Given the description of an element on the screen output the (x, y) to click on. 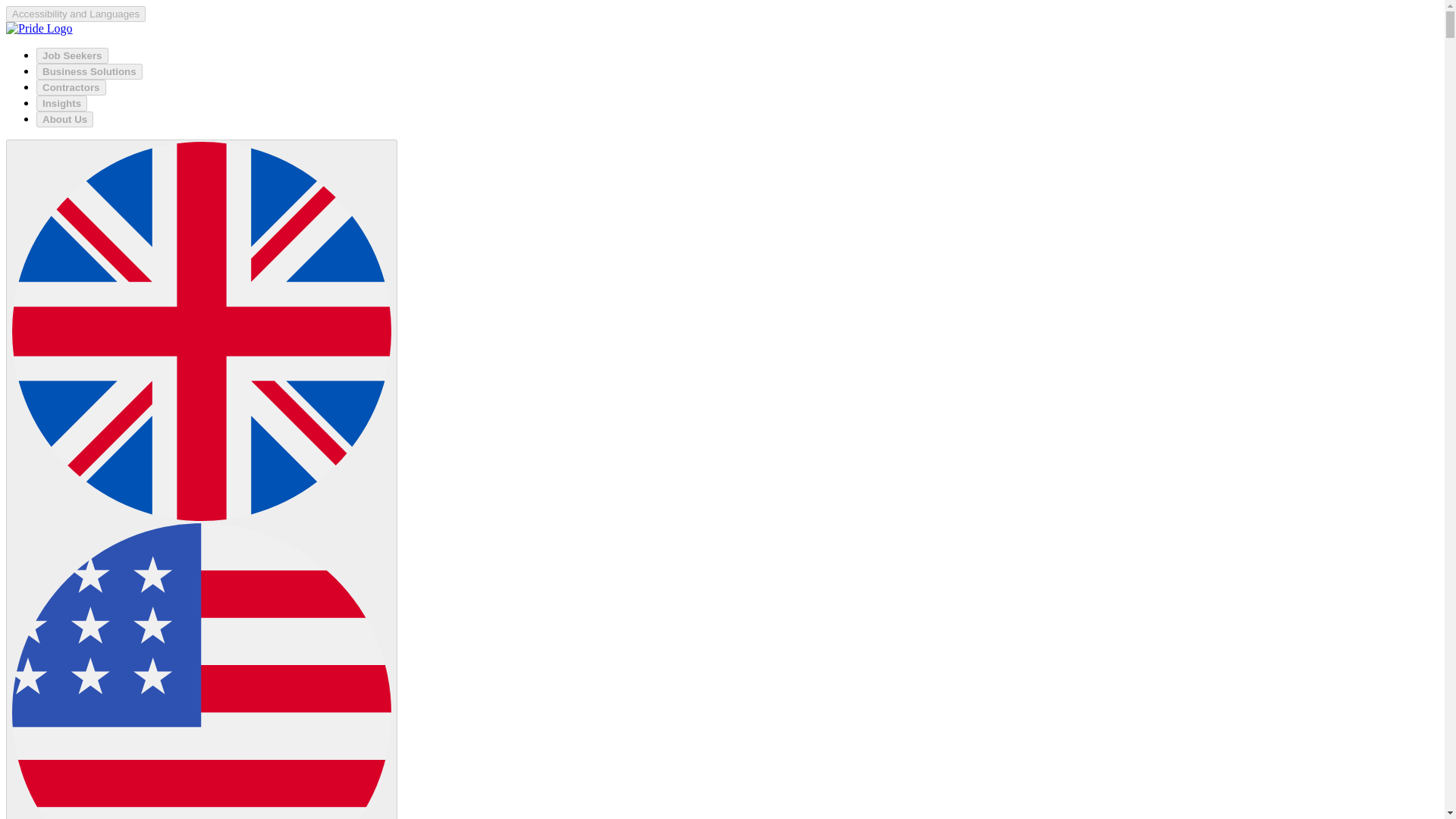
Business Solutions (89, 71)
Lorien (38, 28)
Contractors (71, 87)
Accessibility and Languages (75, 13)
Job Seekers (71, 55)
Insights (61, 103)
About Us (64, 119)
